Given the description of an element on the screen output the (x, y) to click on. 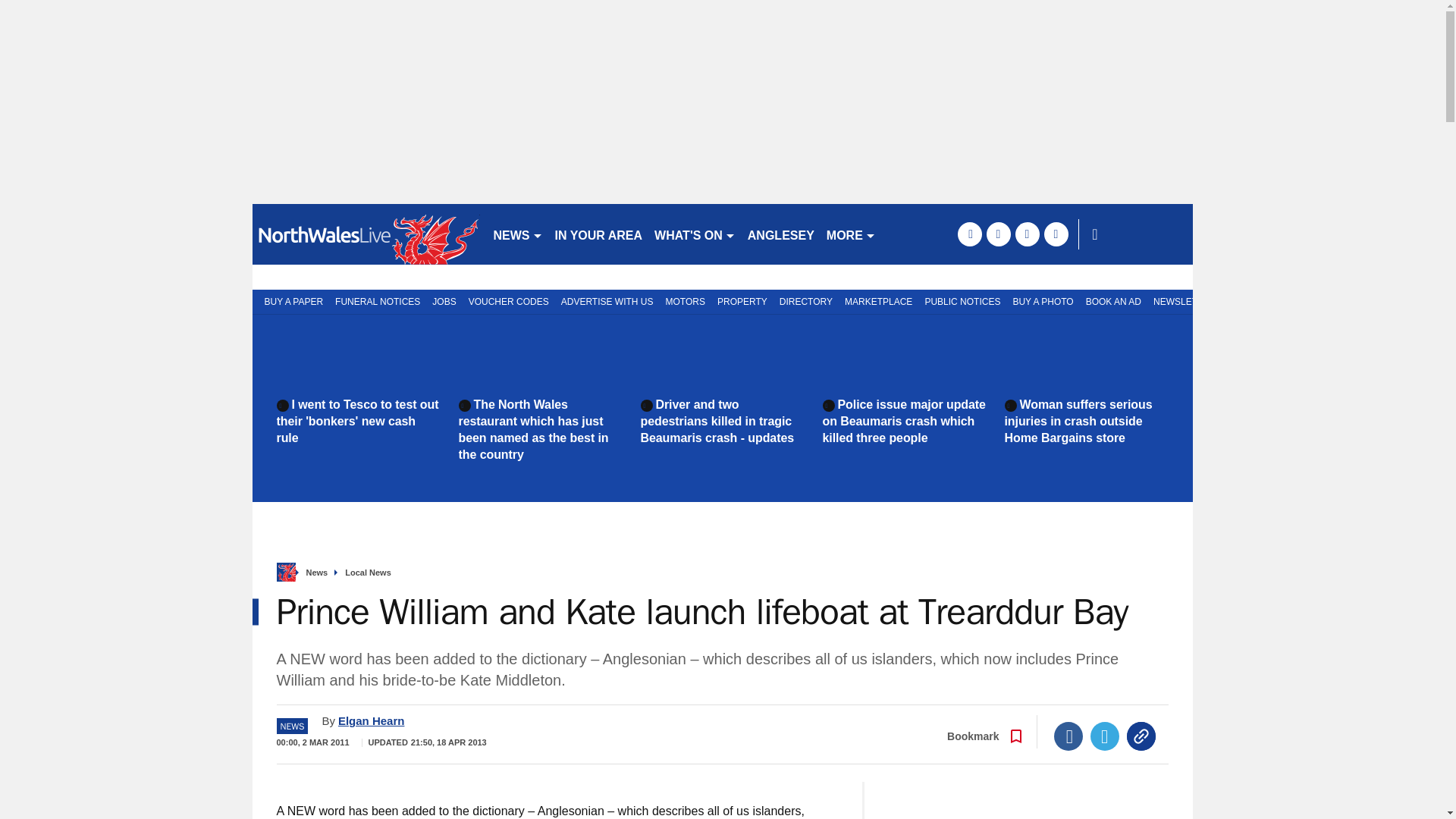
IN YOUR AREA (598, 233)
Twitter (1104, 736)
NEWS (517, 233)
facebook (968, 233)
MOTORS (685, 300)
northwales (365, 233)
twitter (997, 233)
BUY A PAPER (290, 300)
FUNERAL NOTICES (377, 300)
VOUCHER CODES (508, 300)
